Given the description of an element on the screen output the (x, y) to click on. 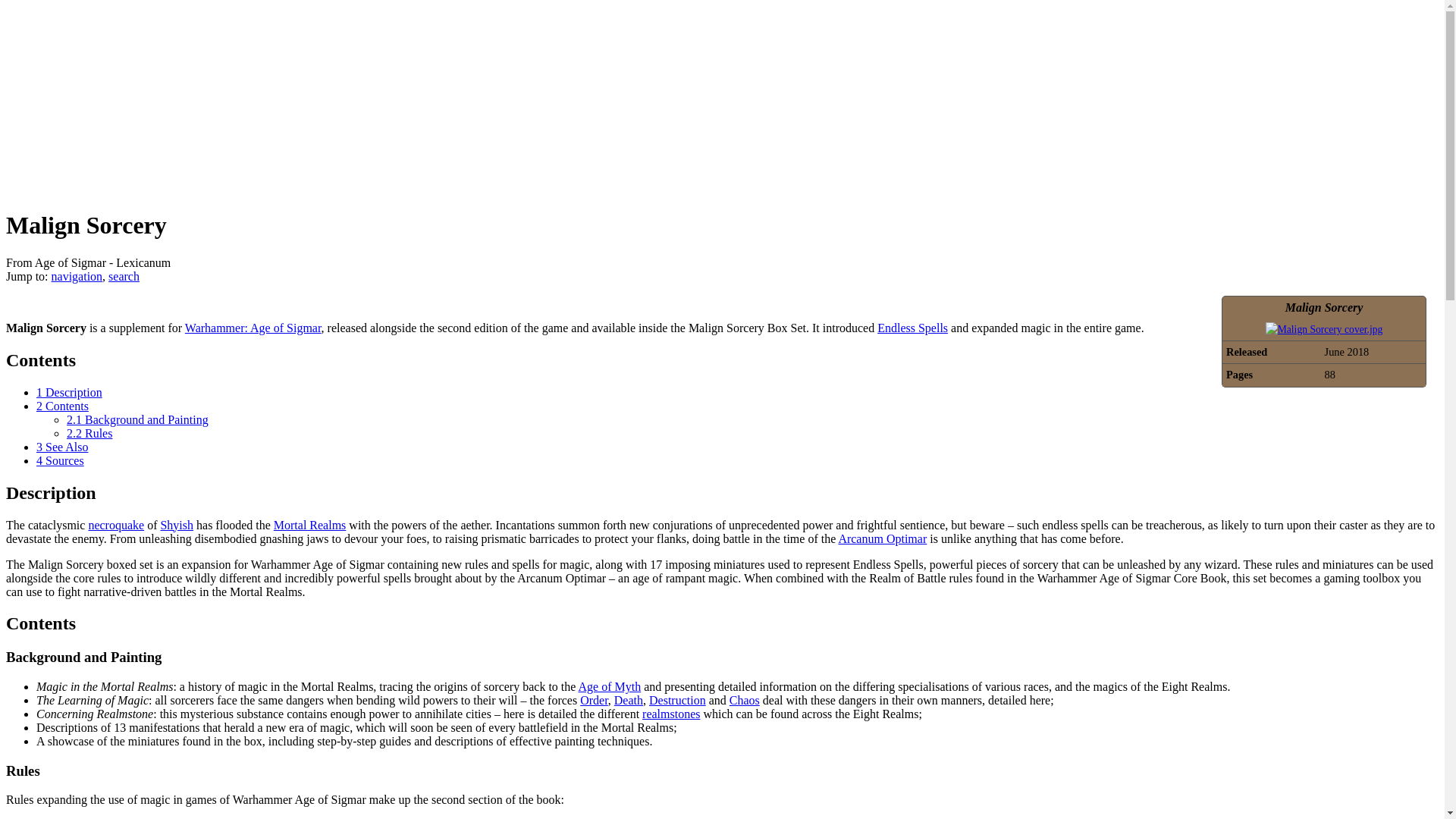
Chaos (744, 699)
2 Contents (62, 405)
search (123, 276)
realmstones (671, 713)
Endless Spells (912, 327)
Age of Myth (610, 686)
Grand Alliance of Destruction (677, 699)
Warhammer: Age of Sigmar (252, 327)
Grand Alliance of Order (593, 699)
3 See Also (61, 446)
Grand Alliance of Death (628, 699)
Grand Alliance of Chaos (744, 699)
Realmstone (671, 713)
Arcanum Optimar (882, 538)
Arcanum Optimar (882, 538)
